Given the description of an element on the screen output the (x, y) to click on. 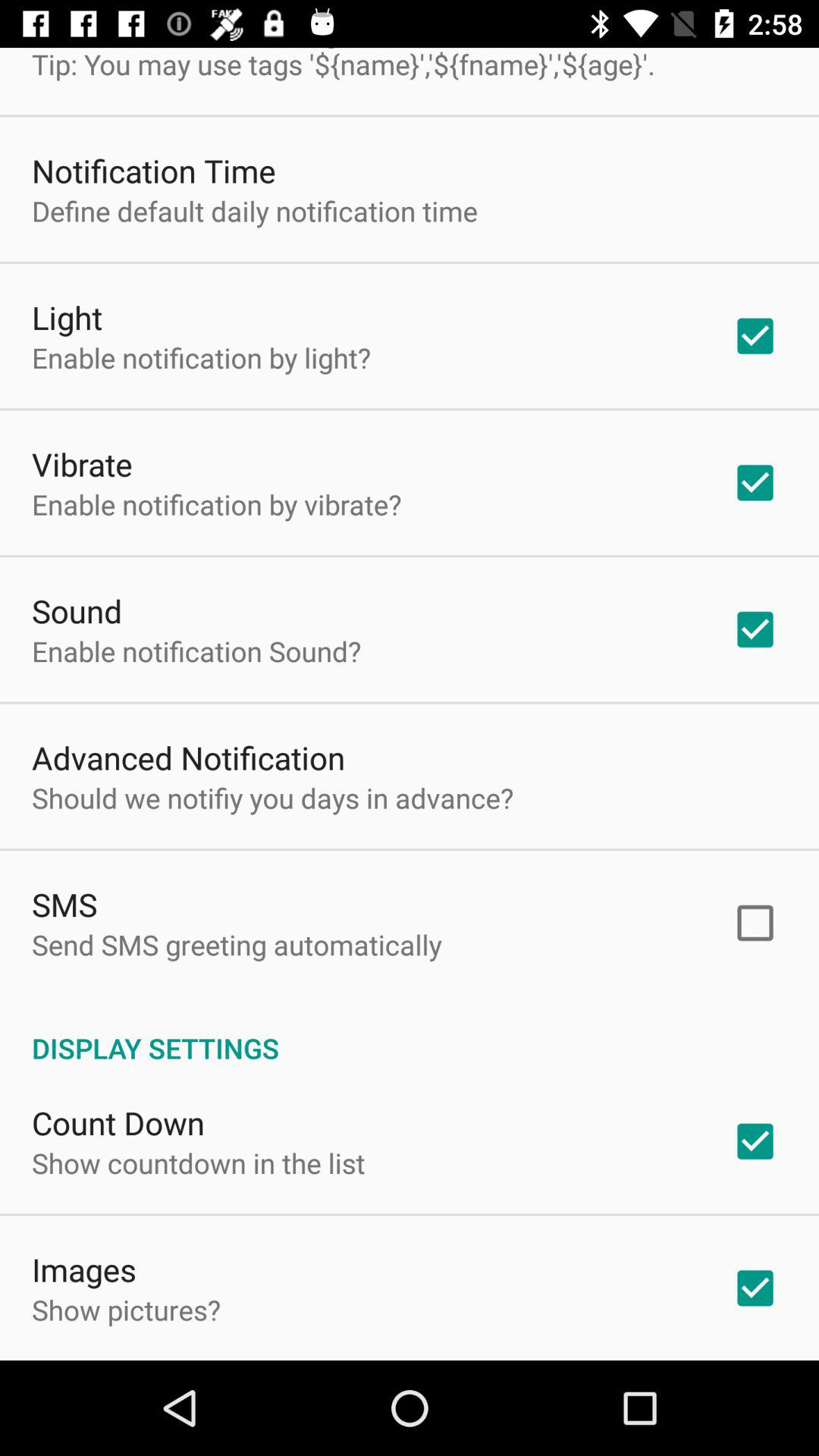
open the icon below notification time icon (254, 210)
